Given the description of an element on the screen output the (x, y) to click on. 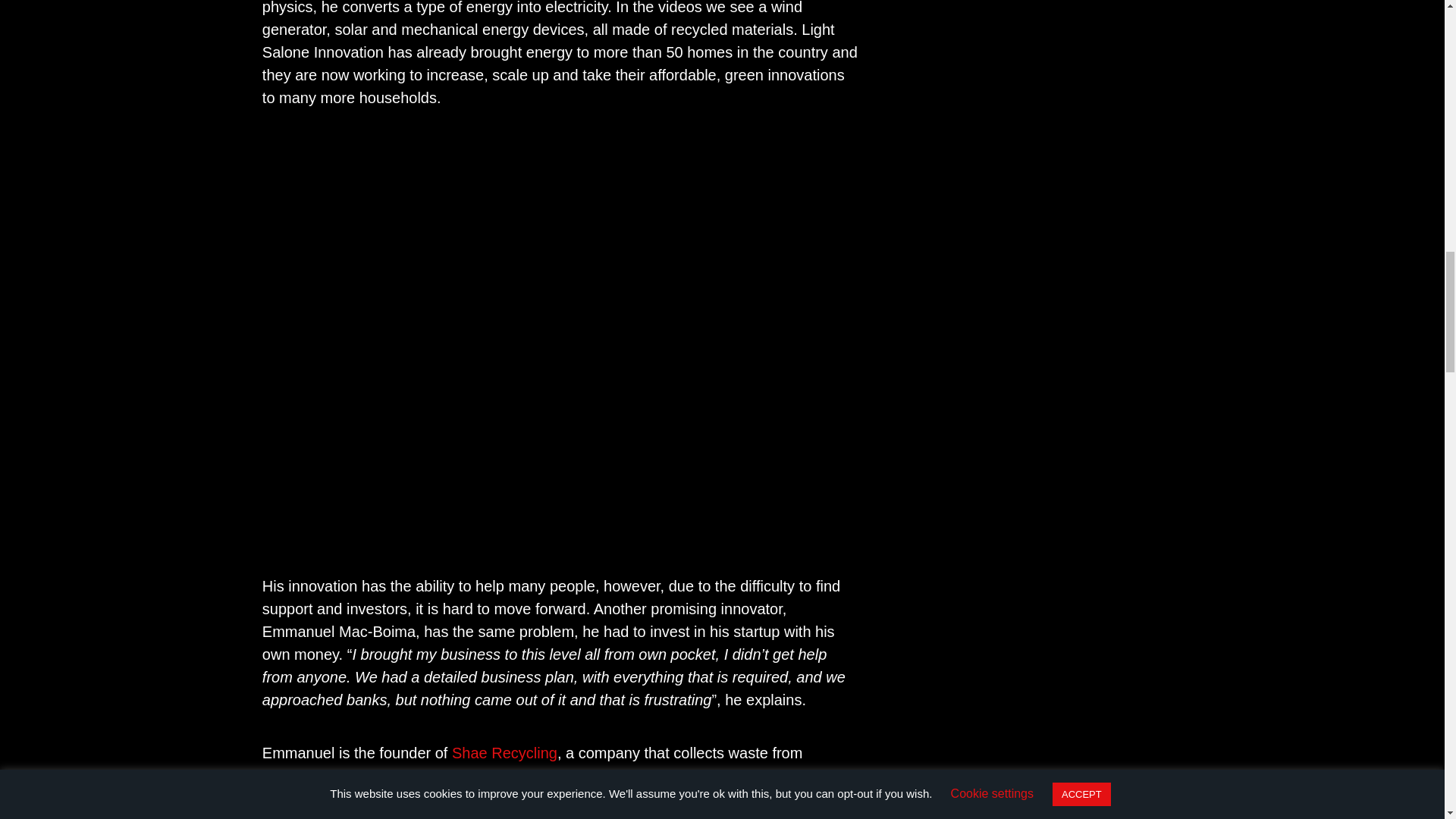
Shae Recycling (504, 752)
